Given the description of an element on the screen output the (x, y) to click on. 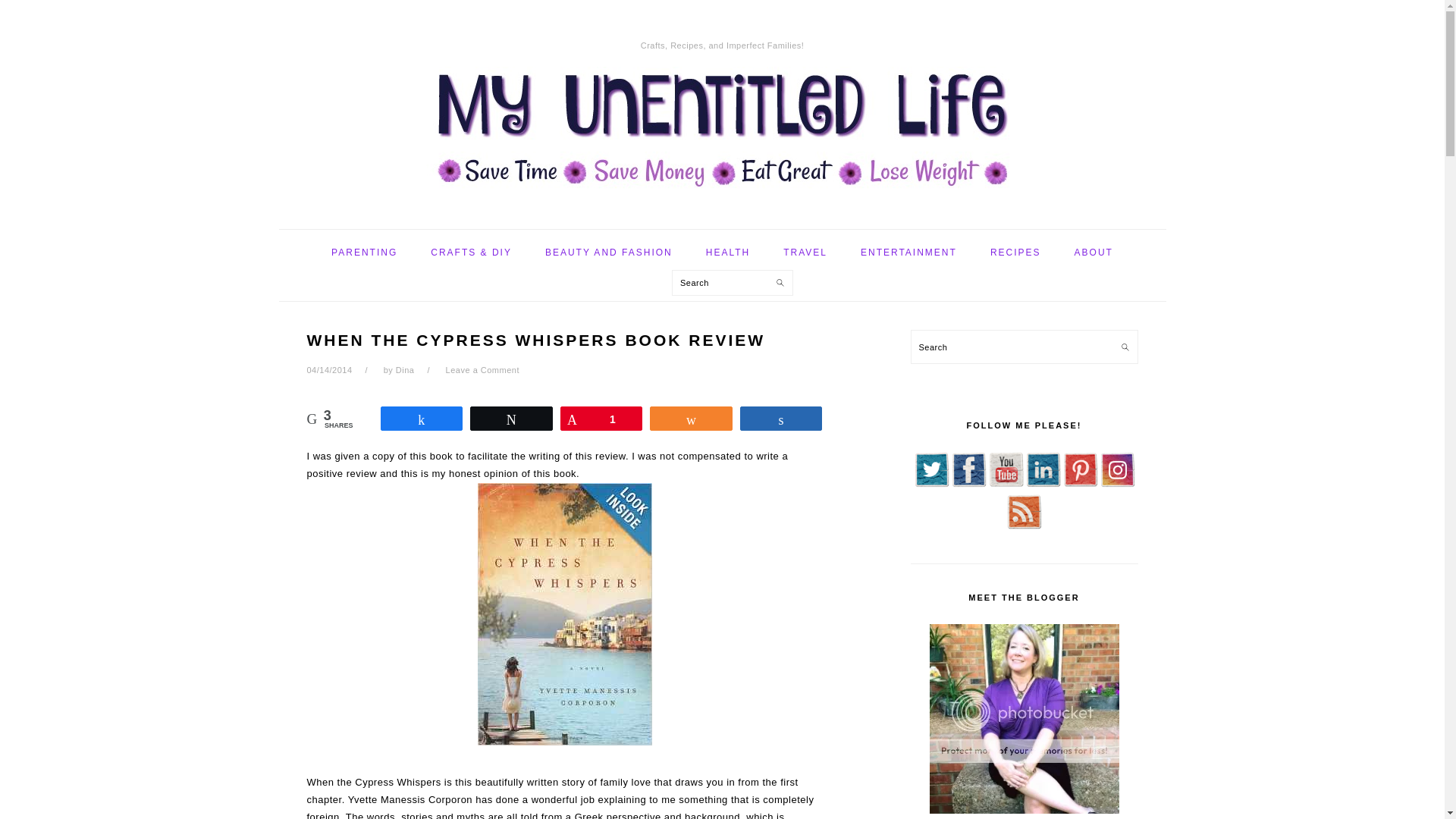
Visit Us On Pinterest (1080, 483)
BEAUTY AND FASHION (608, 252)
Visit Us On Instagram (1116, 483)
TRAVEL (805, 252)
Visit Us On Facebook (968, 483)
ENTERTAINMENT (908, 252)
RECIPES (1015, 252)
ABOUT (1093, 252)
Visit Us On Twitter (931, 483)
Visit Us On Youtube (1006, 483)
